Given the description of an element on the screen output the (x, y) to click on. 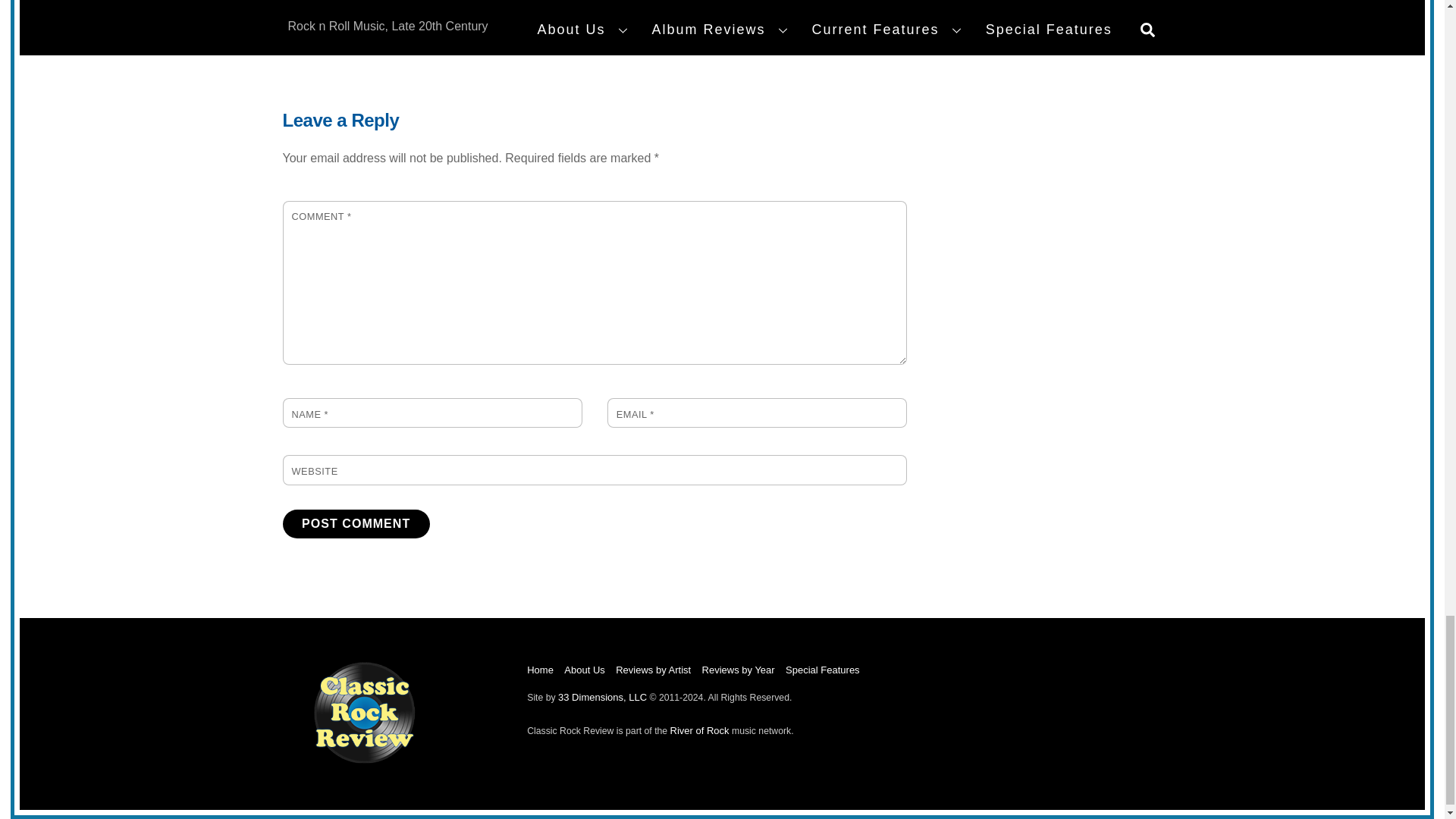
Album Reviews Listed by Year Released (350, 32)
Classic Rock Review (737, 669)
Album Reviews Listed by Artist Name (364, 759)
Post Comment (652, 669)
ALBUM REVIEWS (355, 523)
